Given the description of an element on the screen output the (x, y) to click on. 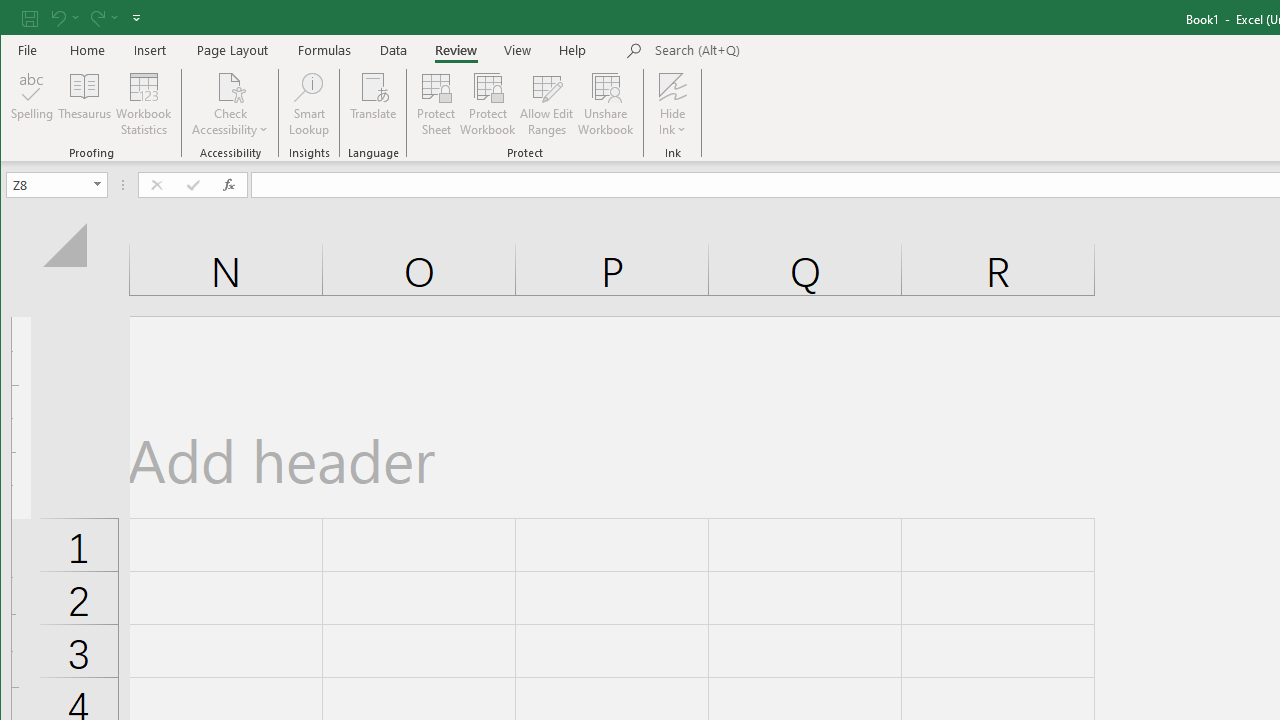
Protect Workbook... (488, 104)
Smart Lookup (308, 104)
